Given the description of an element on the screen output the (x, y) to click on. 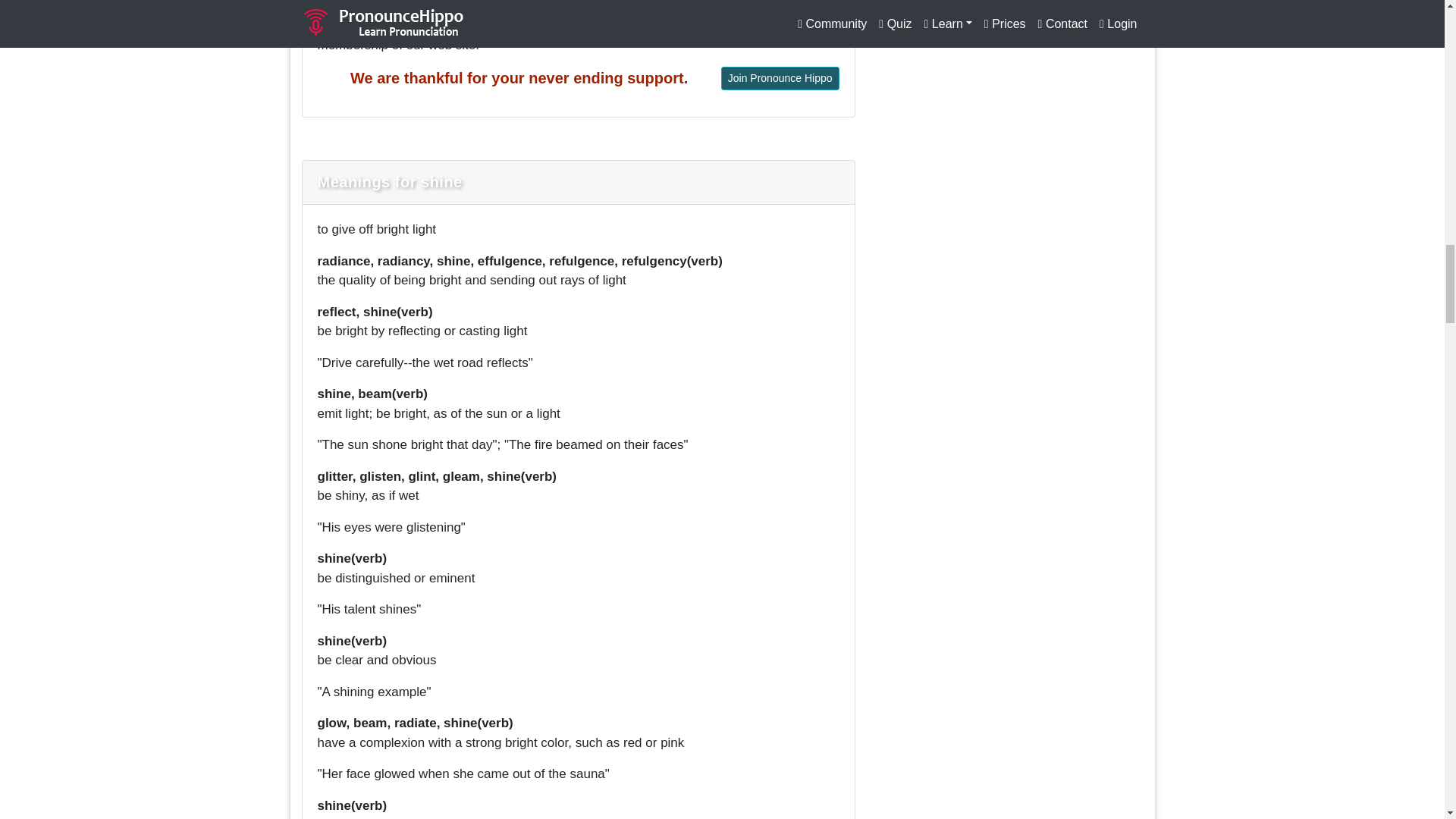
Join Pronounce Hippo (780, 78)
